Given the description of an element on the screen output the (x, y) to click on. 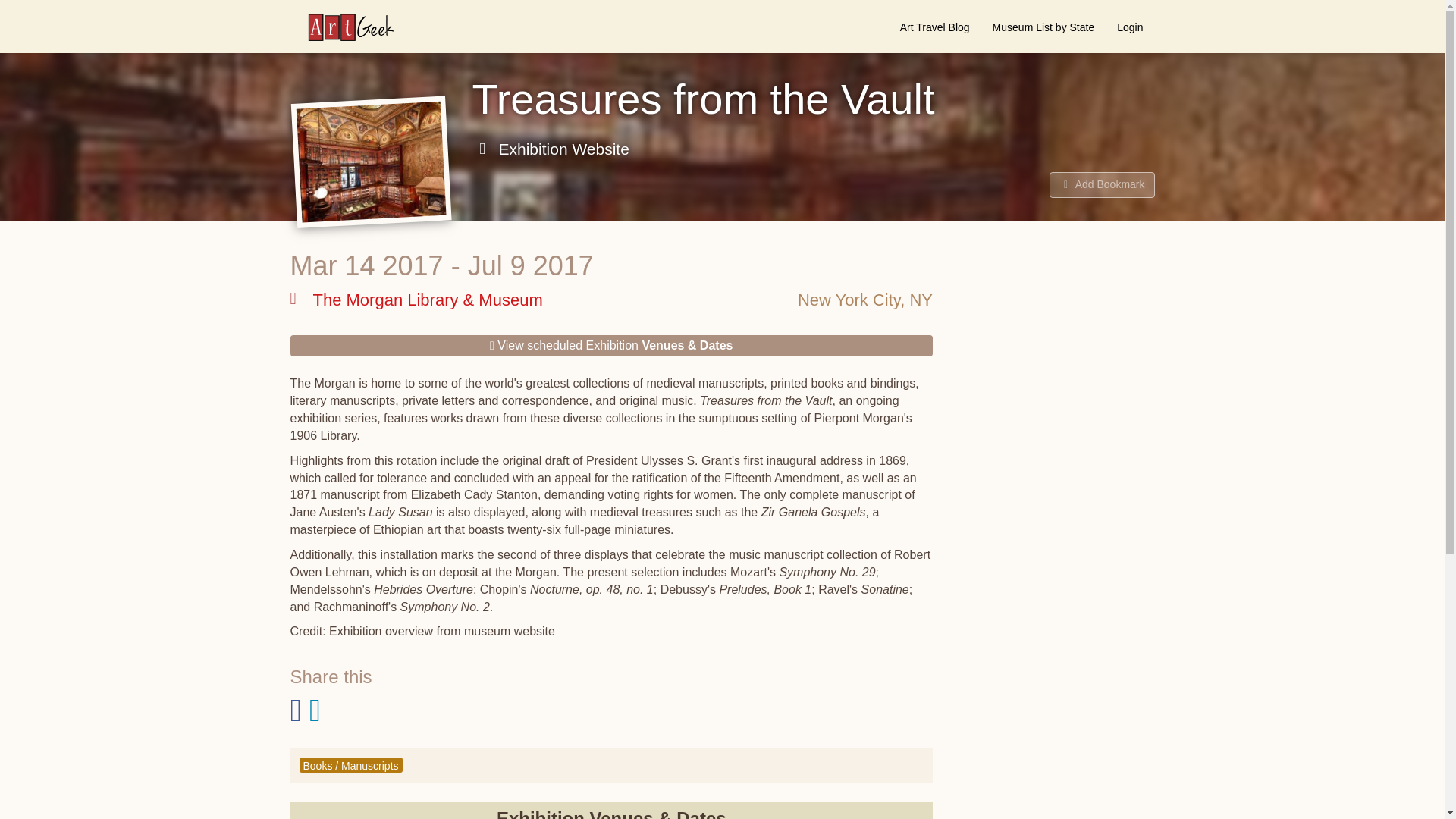
Art Travel Blog (934, 26)
ArtGeek (343, 26)
Login (1129, 26)
Museum List by State (1043, 26)
Add Bookmark (1101, 184)
Exhibition Website (549, 149)
